Given the description of an element on the screen output the (x, y) to click on. 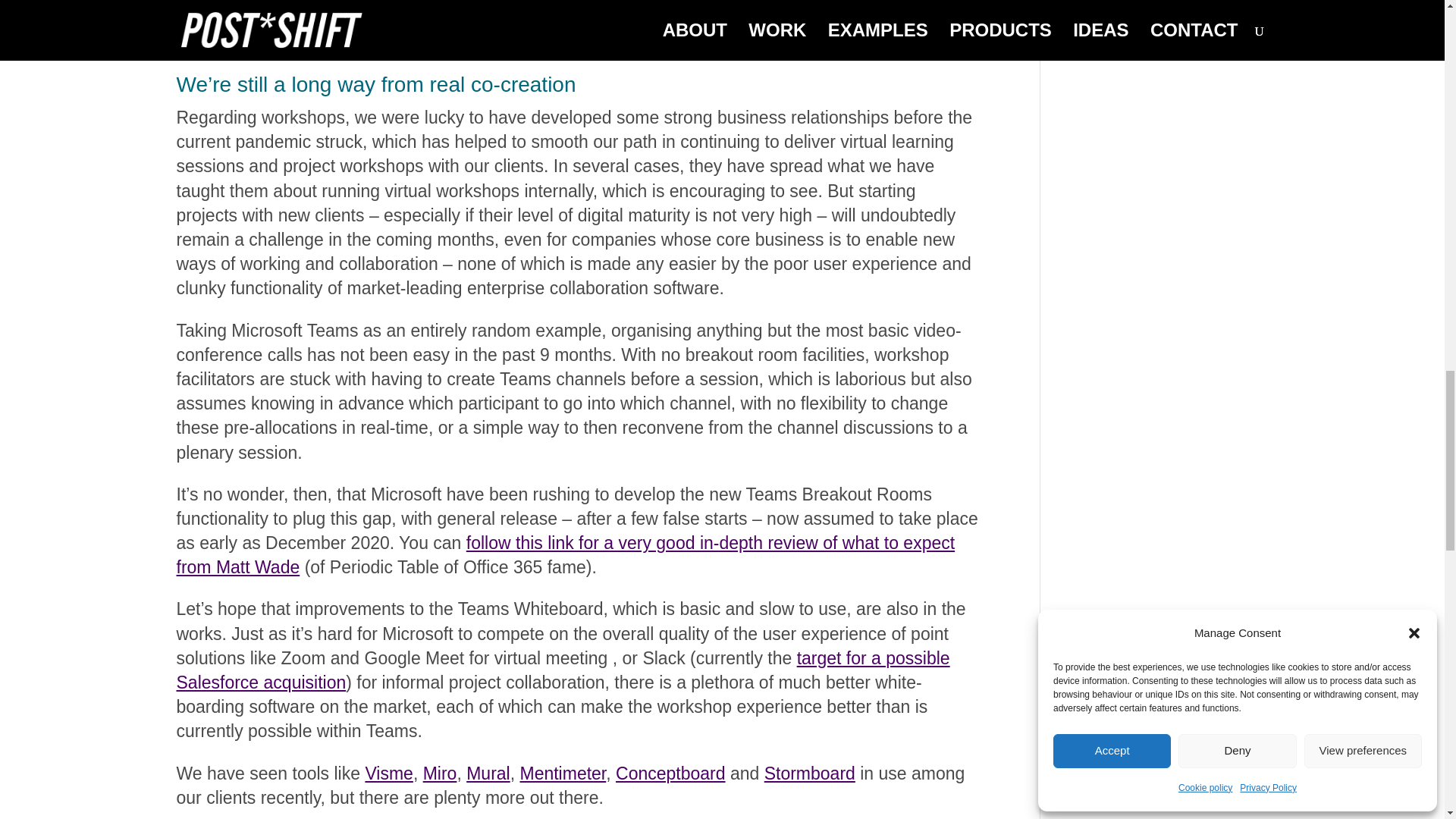
target for a possible Salesforce acquisition (562, 670)
Visme (389, 772)
Mural (488, 772)
Mentimeter (562, 772)
Miro (440, 772)
